Given the description of an element on the screen output the (x, y) to click on. 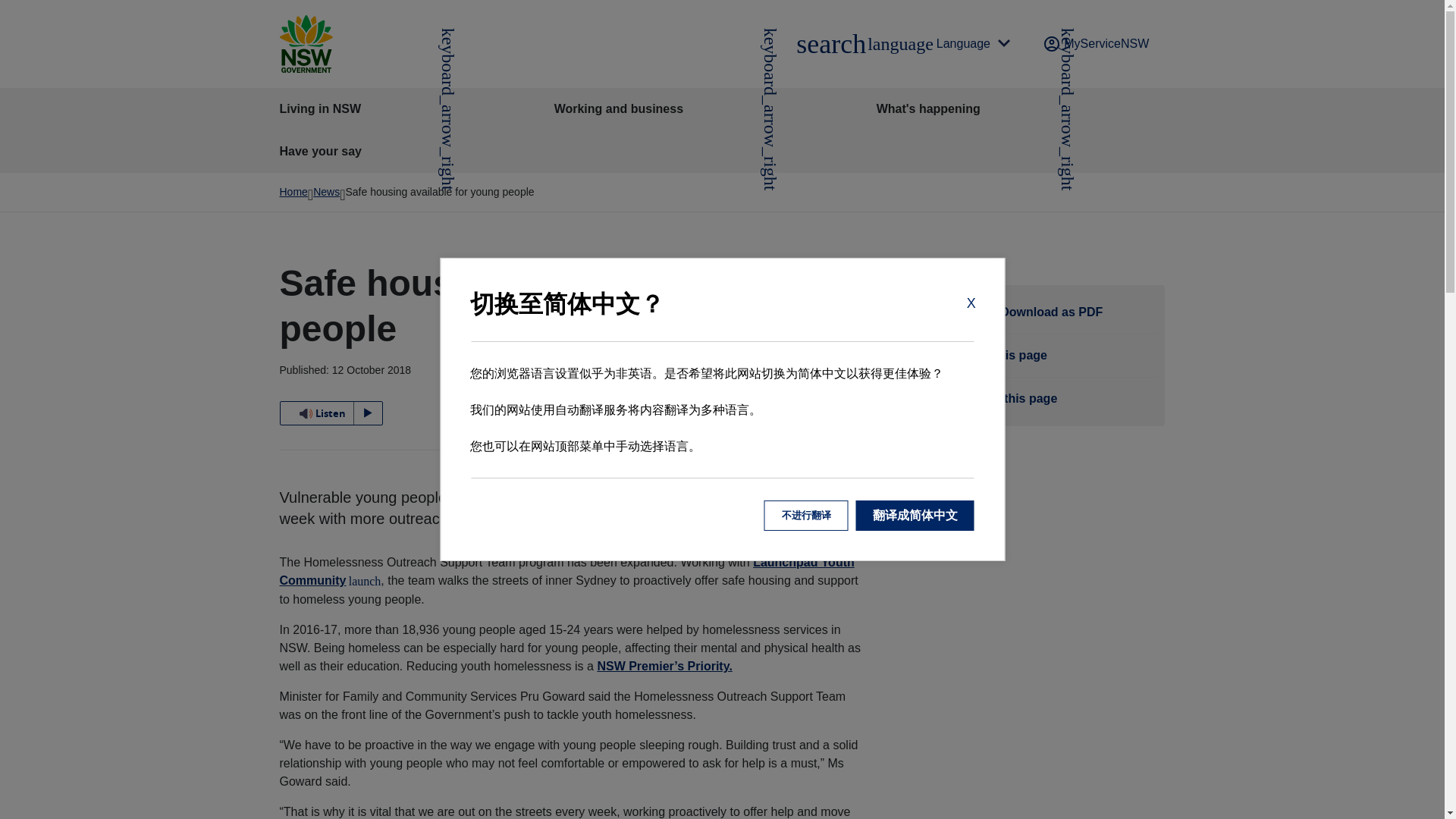
Listen to this page using ReadSpeaker webReader (330, 413)
